Given the description of an element on the screen output the (x, y) to click on. 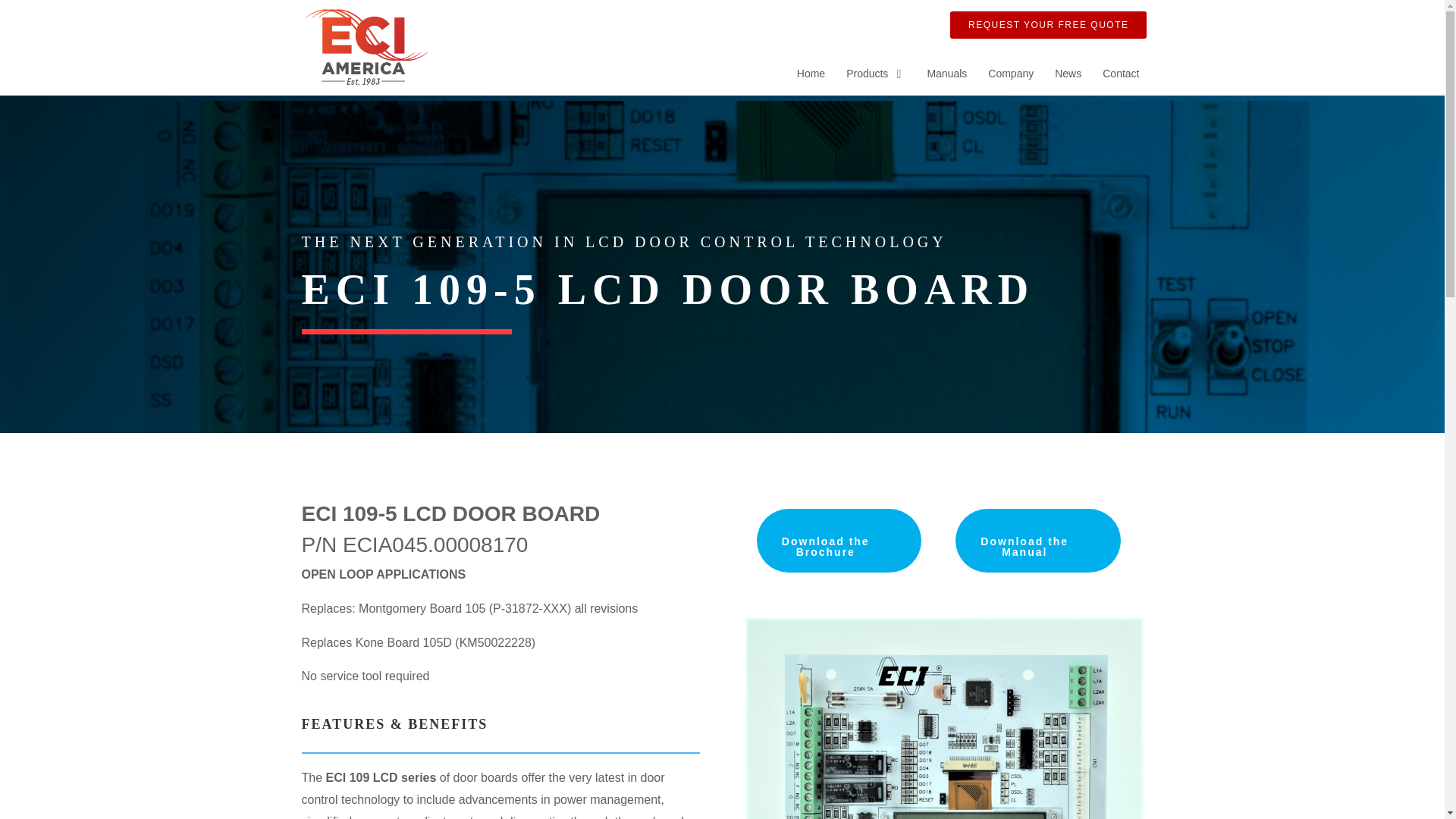
Download the Brochure (839, 540)
Download the Manual (1038, 540)
109lcd-board-rew4215-2 (943, 718)
REQUEST YOUR FREE QUOTE (1048, 24)
LiveChat chat widget (1337, 795)
Home (810, 73)
Products (866, 73)
